Given the description of an element on the screen output the (x, y) to click on. 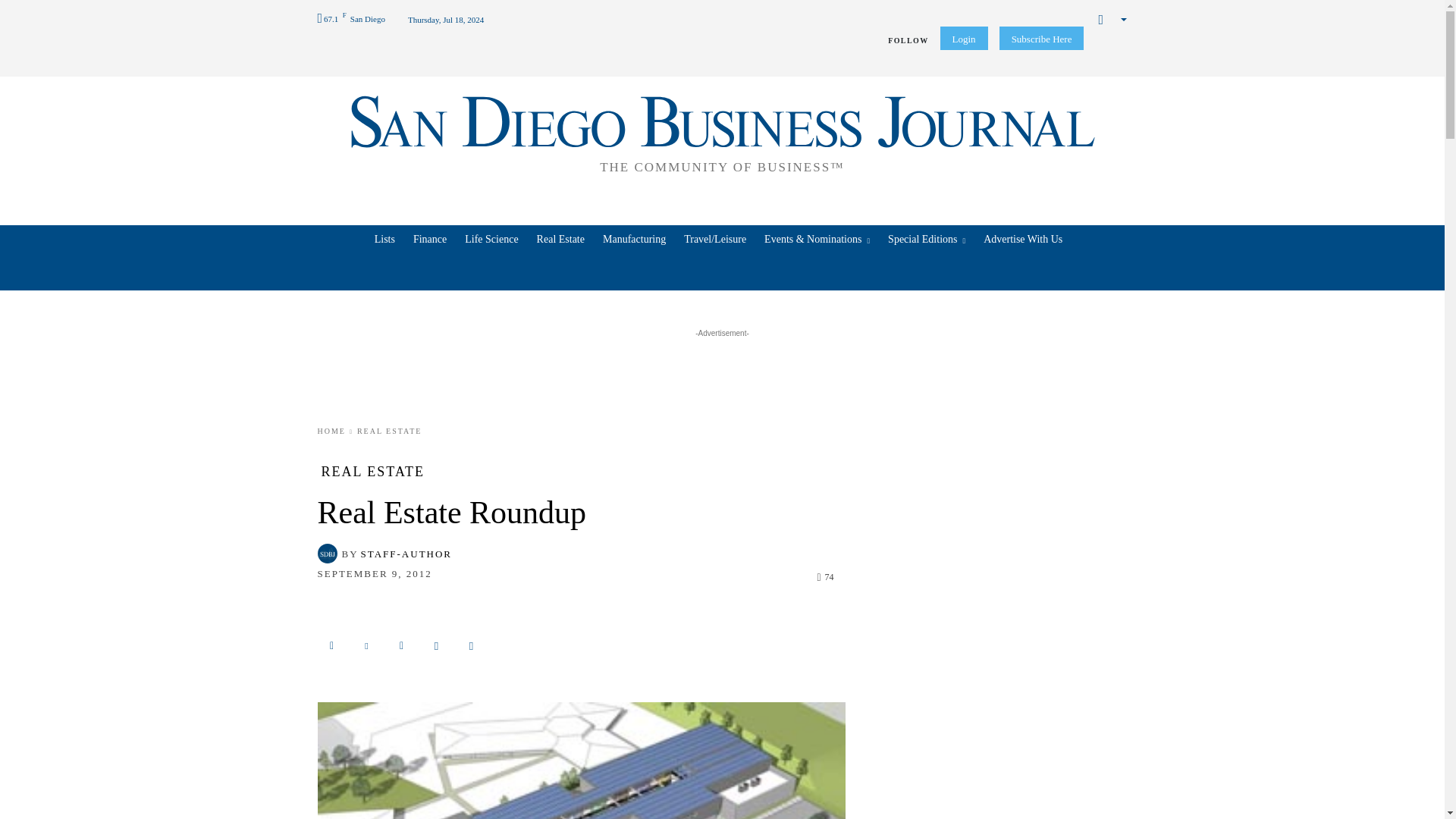
San Diego Business Journal Logo (721, 132)
3rd party ad content (722, 375)
